Given the description of an element on the screen output the (x, y) to click on. 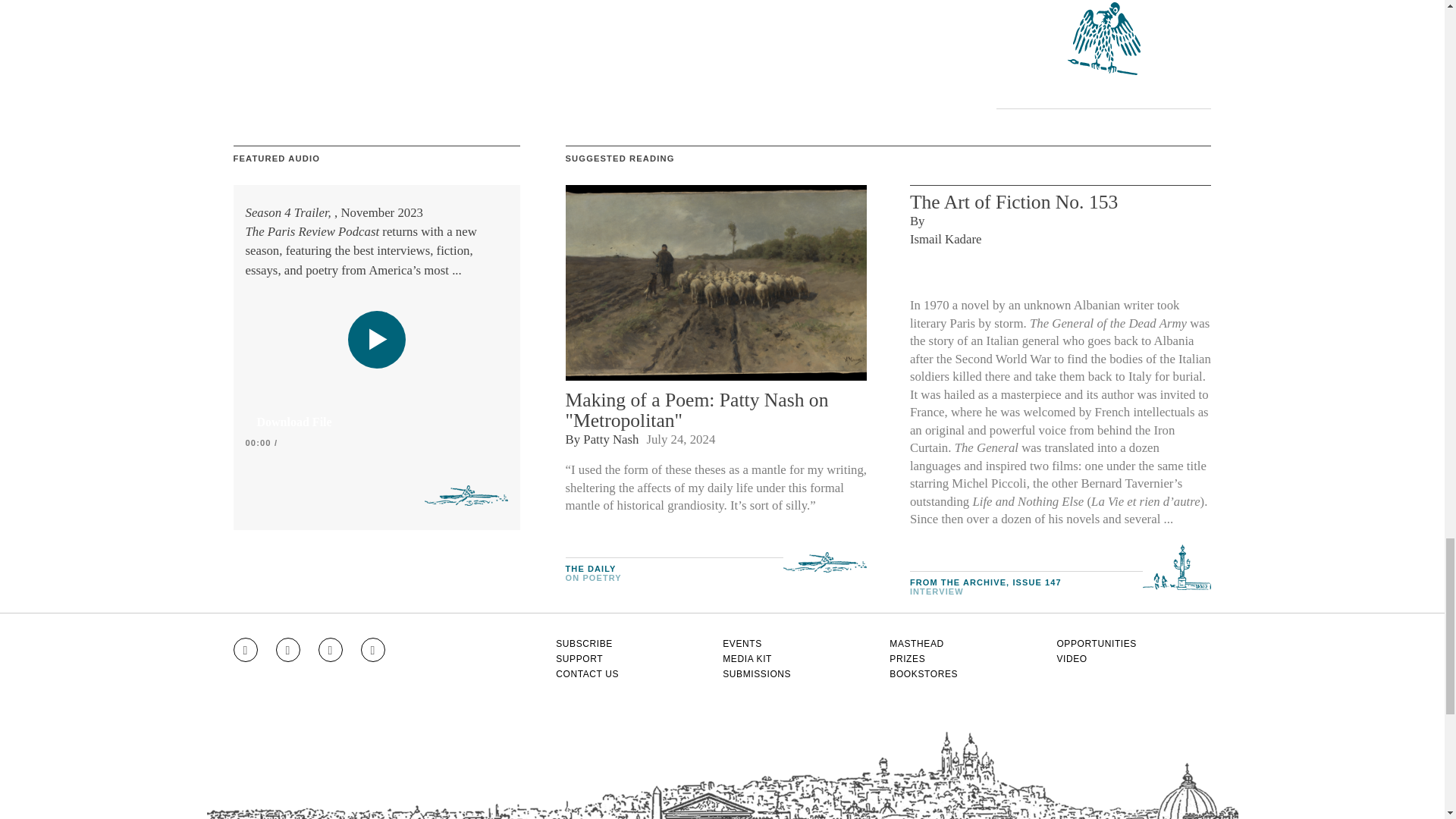
Go to Facebook page (287, 649)
Go to Instagram feed (244, 649)
Go to Twitter feed (330, 649)
Go to RSS feed (373, 649)
